Given the description of an element on the screen output the (x, y) to click on. 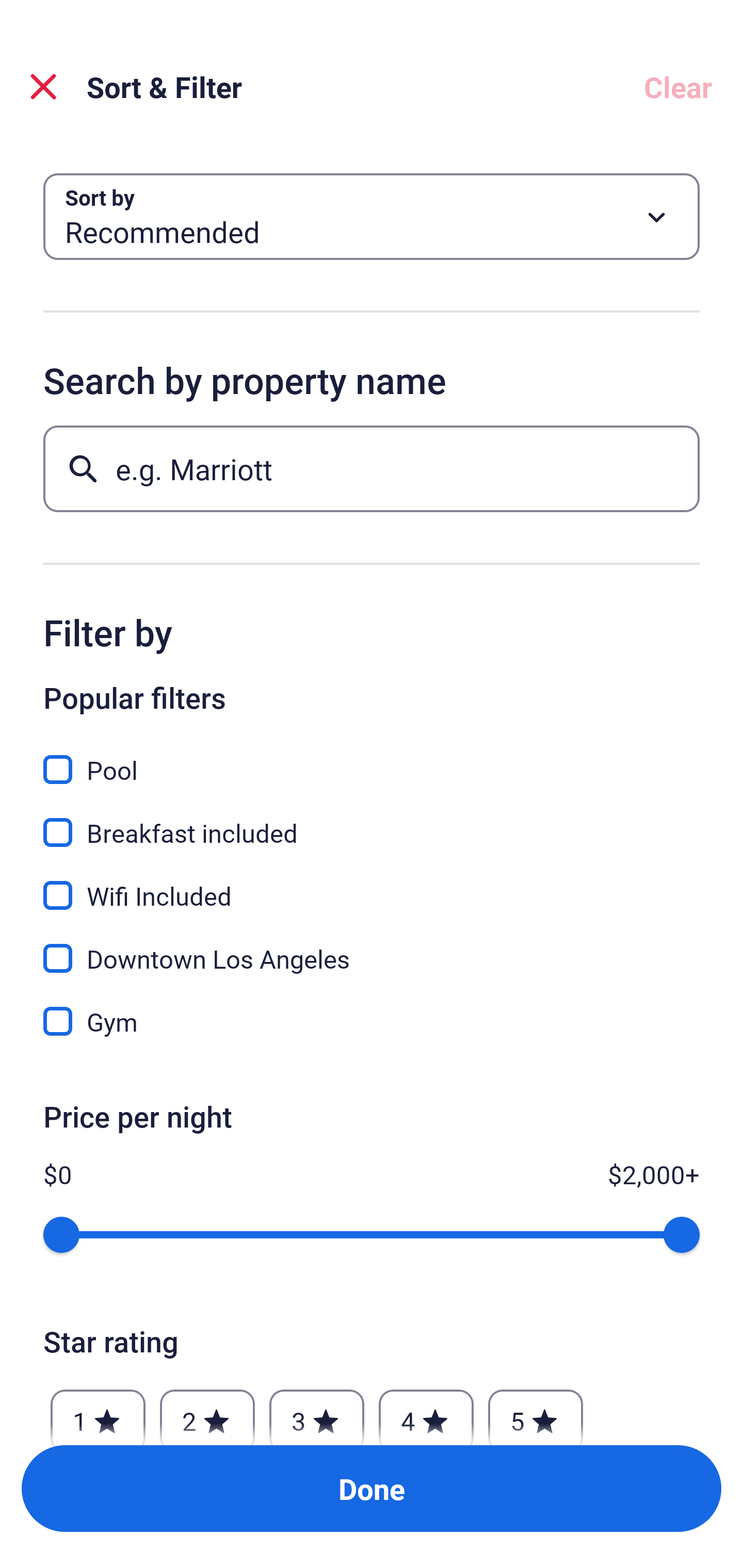
Close Sort and Filter (43, 86)
Clear (677, 86)
Sort by Button Recommended (371, 217)
e.g. Marriott Button (371, 468)
Pool, Pool (371, 757)
Breakfast included, Breakfast included (371, 821)
Wifi Included, Wifi Included (371, 883)
Downtown Los Angeles, Downtown Los Angeles (371, 946)
Gym, Gym (371, 1021)
1 (97, 1411)
2 (206, 1411)
3 (316, 1411)
4 (426, 1411)
5 (535, 1411)
Apply and close Sort and Filter Done (371, 1488)
